Given the description of an element on the screen output the (x, y) to click on. 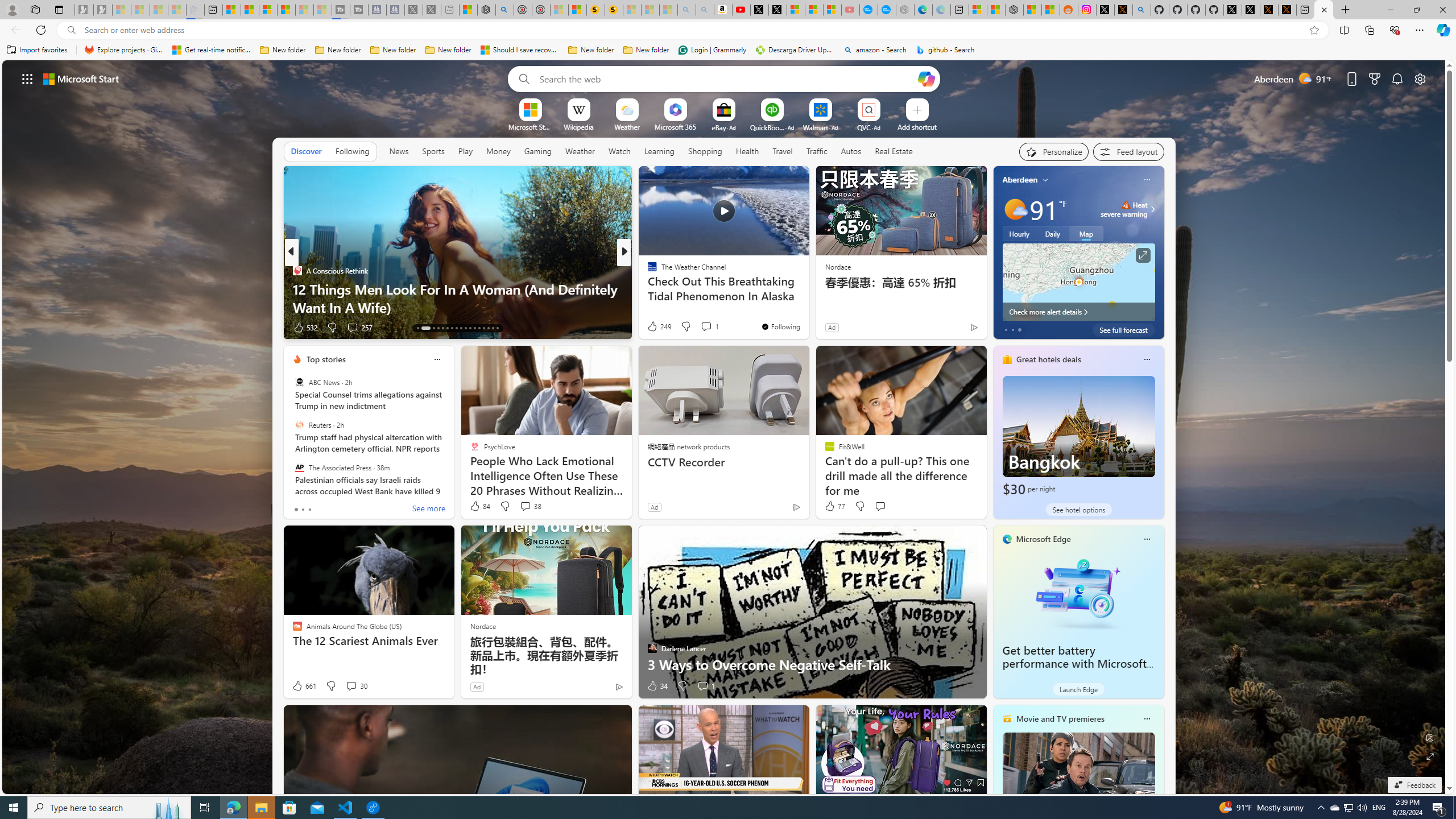
532 Like (304, 327)
77 Like (834, 505)
AutomationID: tab-24 (474, 328)
amazon - Search - Sleeping (686, 9)
View comments 397 Comment (6, 327)
206 Like (654, 327)
Import favorites (36, 49)
tab-2 (309, 509)
